Given the description of an element on the screen output the (x, y) to click on. 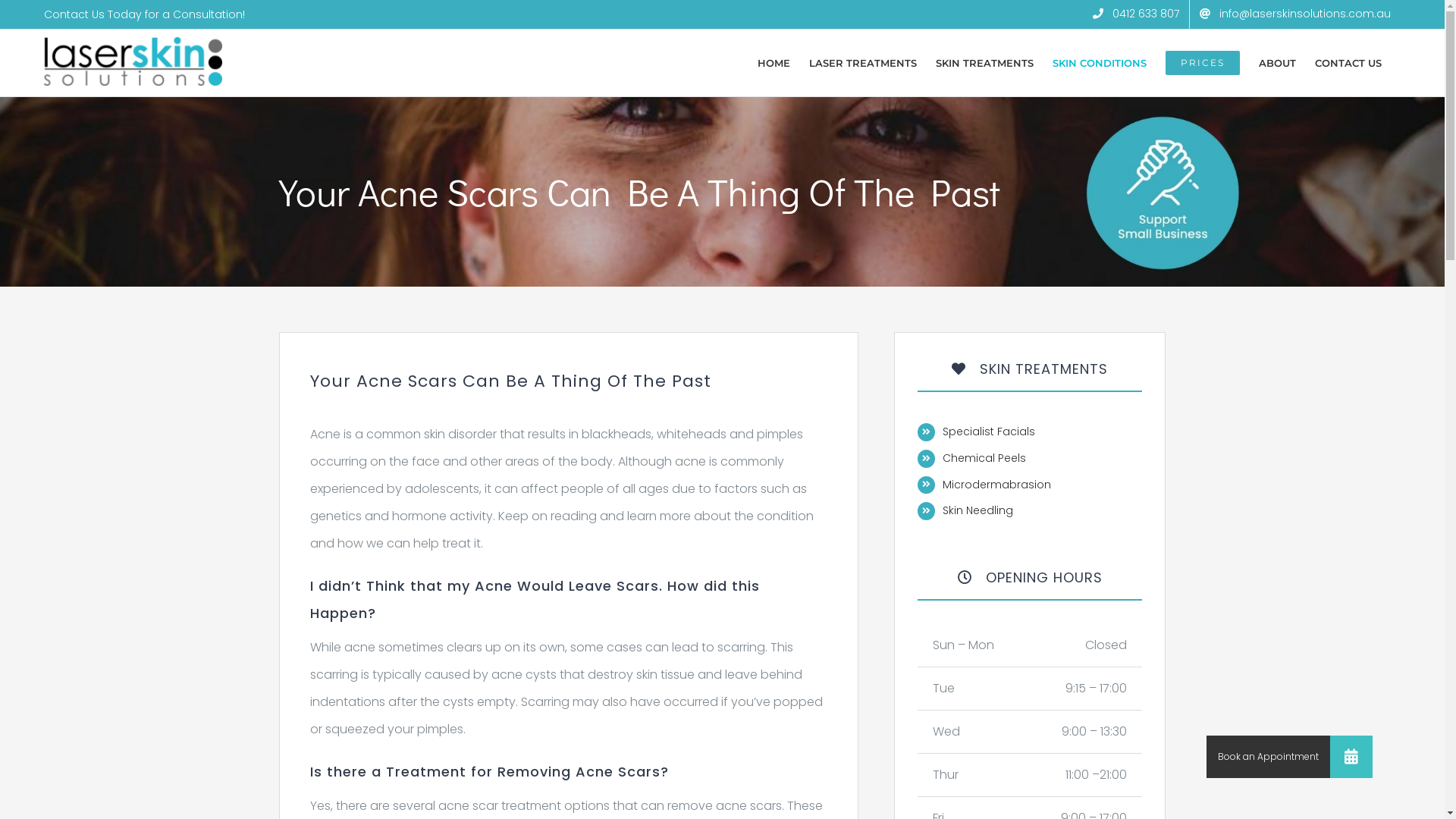
Skin Needling Element type: text (977, 509)
SKIN CONDITIONS Element type: text (1099, 62)
LASER TREATMENTS Element type: text (862, 62)
PRICES Element type: text (1202, 62)
ABOUT Element type: text (1276, 62)
0412 633 807 Element type: text (1135, 14)
SKIN TREATMENTS Element type: text (984, 62)
CONTACT US Element type: text (1347, 62)
Microdermabrasion Element type: text (996, 484)
Specialist Facials Element type: text (988, 431)
Chemical Peels Element type: text (984, 457)
Book an Appointment Element type: text (1351, 756)
HOME Element type: text (773, 62)
info@laserskinsolutions.com.au Element type: text (1294, 14)
